Given the description of an element on the screen output the (x, y) to click on. 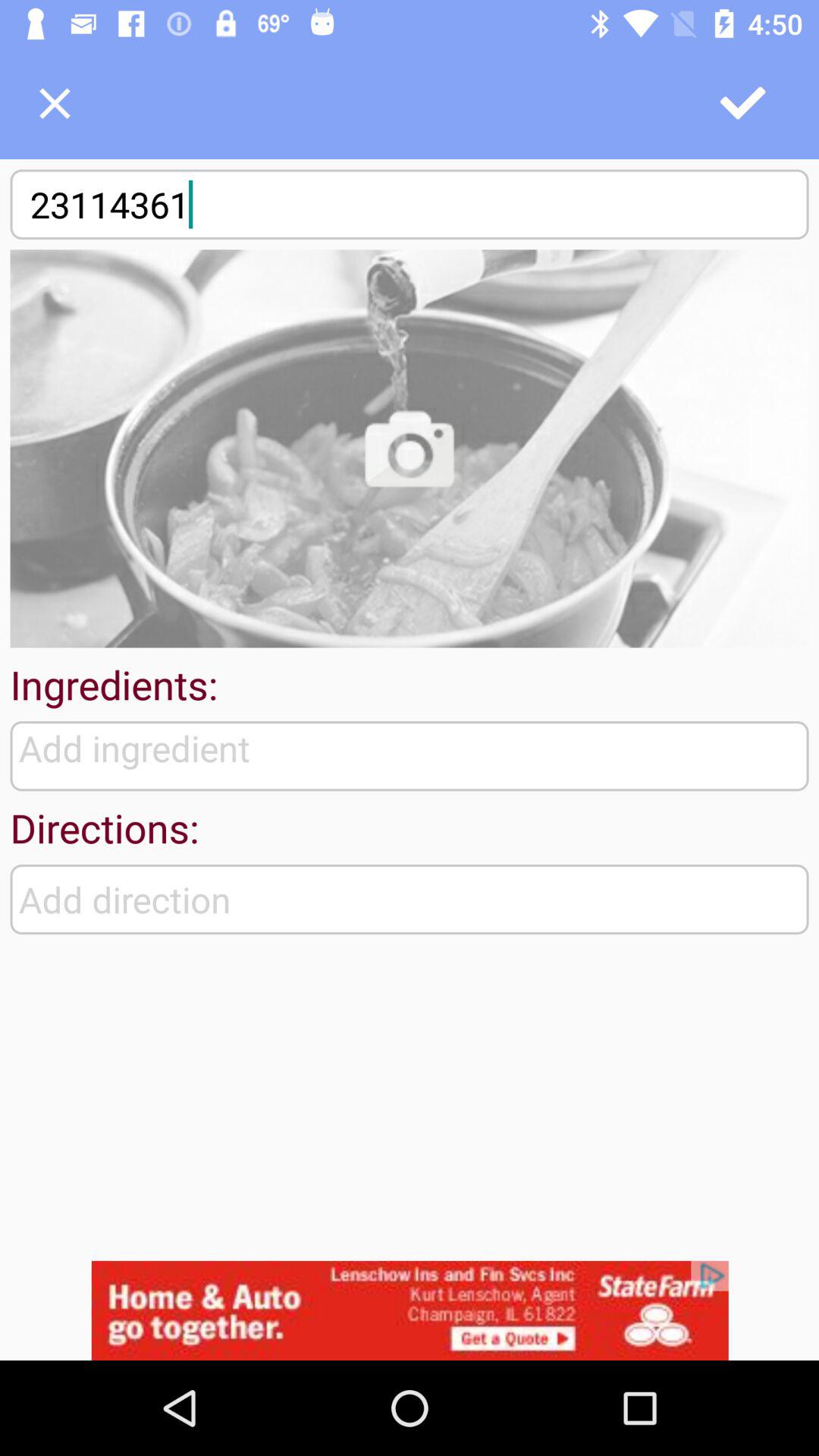
add the option (409, 1310)
